Given the description of an element on the screen output the (x, y) to click on. 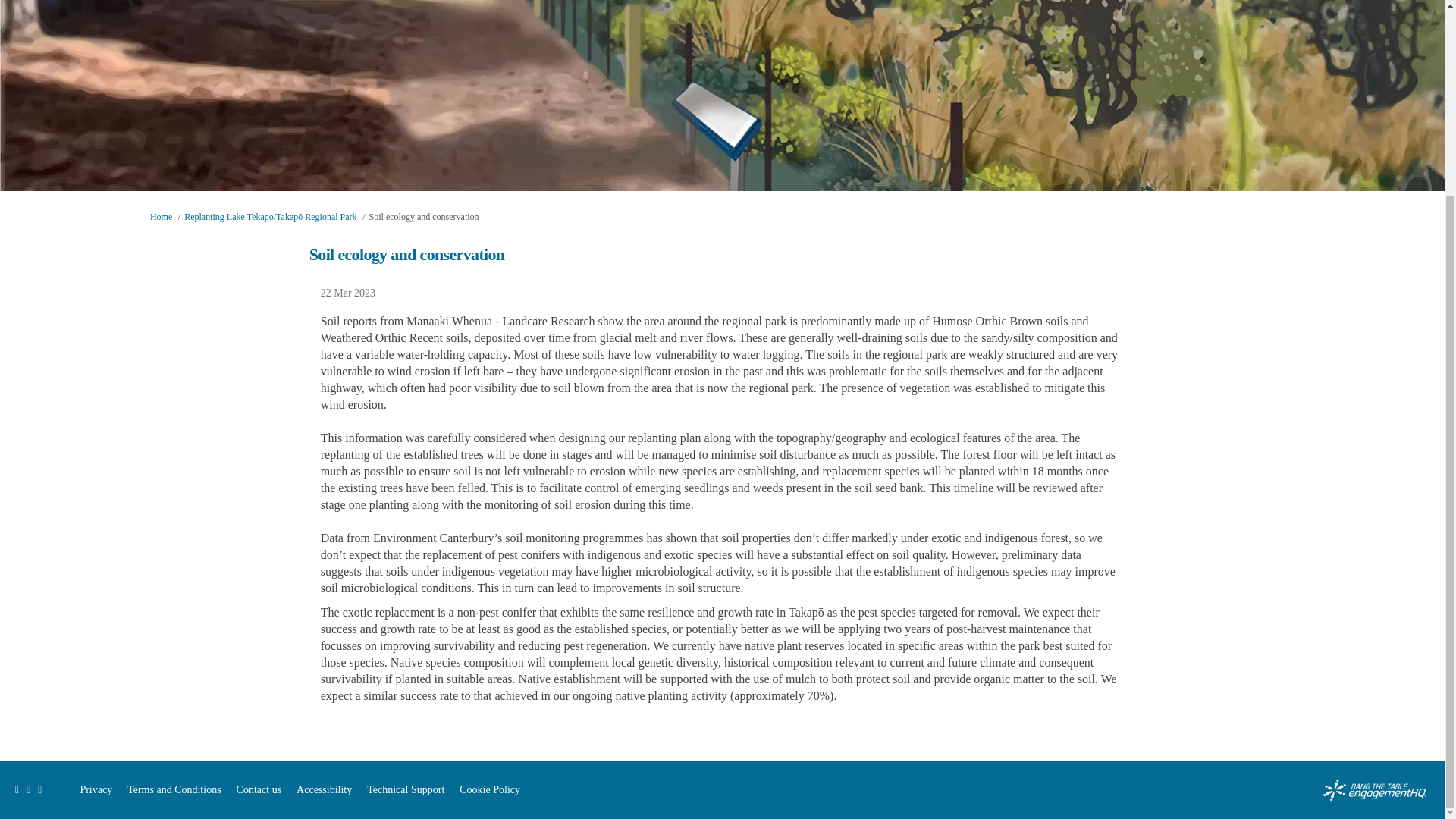
Terms and Conditions (174, 789)
22 Mar 2023, 05:56 PM (722, 293)
Cookie Policy (489, 789)
Contact us (258, 789)
Technical Support (405, 789)
Home (160, 216)
Accessibility (324, 789)
Privacy (96, 789)
